Given the description of an element on the screen output the (x, y) to click on. 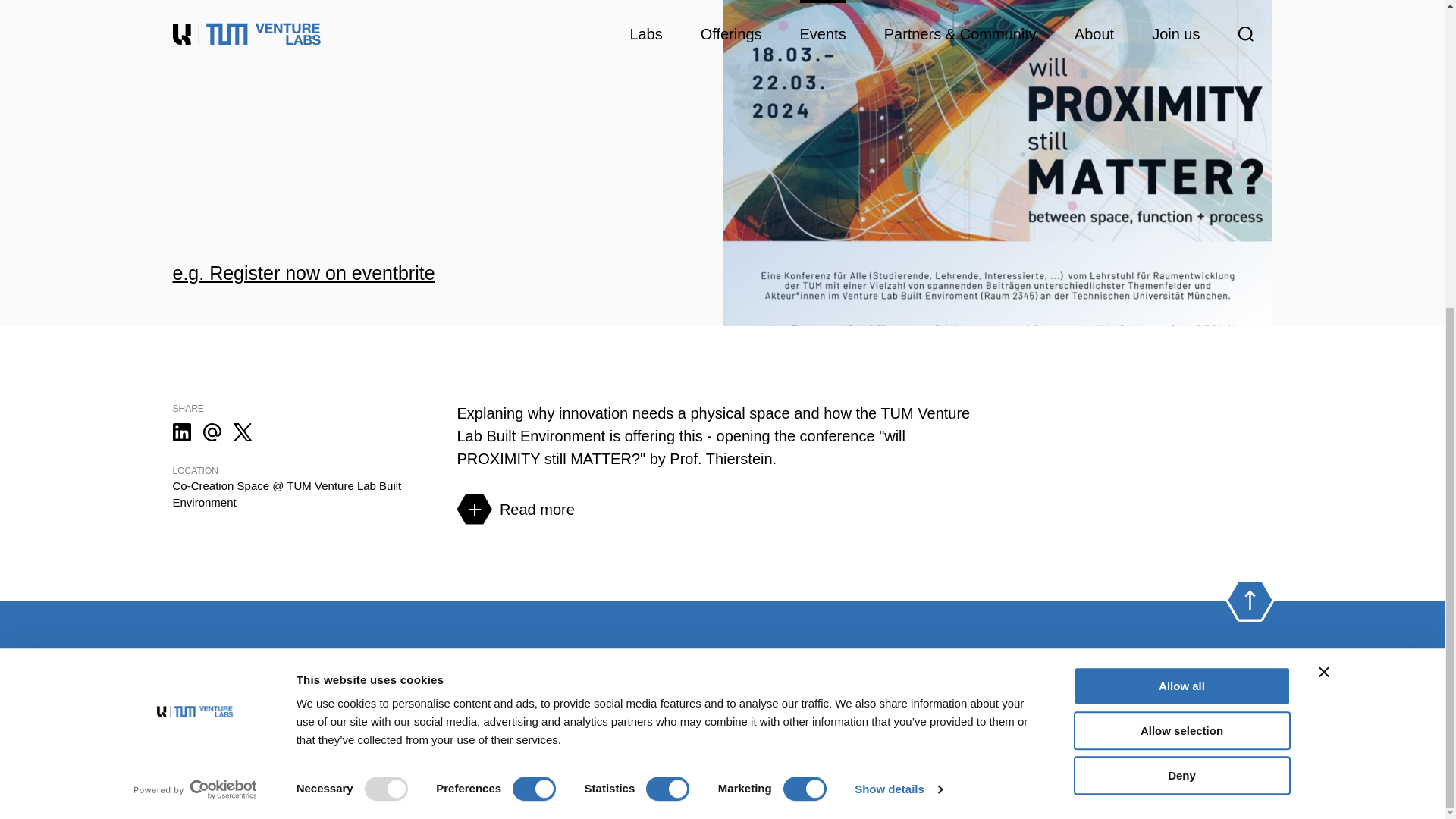
Spotify (1004, 710)
Eventbrite (1045, 710)
Deny (1182, 290)
LinkedIn (963, 710)
Allow all (1182, 200)
Show details (898, 303)
Allow selection (1182, 245)
